Given the description of an element on the screen output the (x, y) to click on. 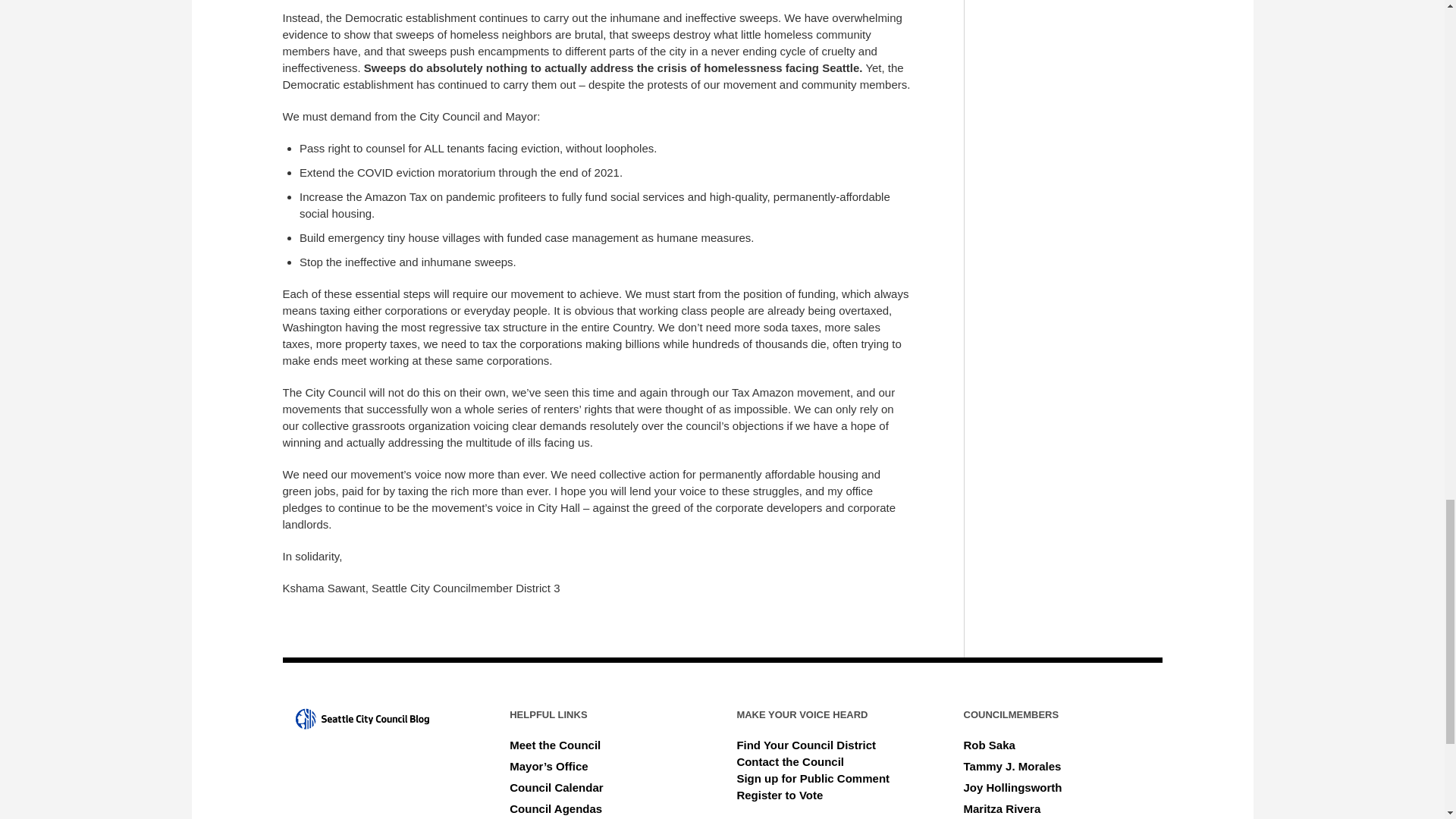
Register to Vote (779, 794)
Contact the Council (790, 761)
Rob Saka (988, 744)
Council Agendas (555, 808)
Find Your Council District (806, 744)
Joy Hollingsworth (1012, 787)
Sign up for Public Comment (812, 778)
Council Calendar (555, 787)
Meet the Council (554, 744)
Tammy J. Morales (1012, 766)
